Given the description of an element on the screen output the (x, y) to click on. 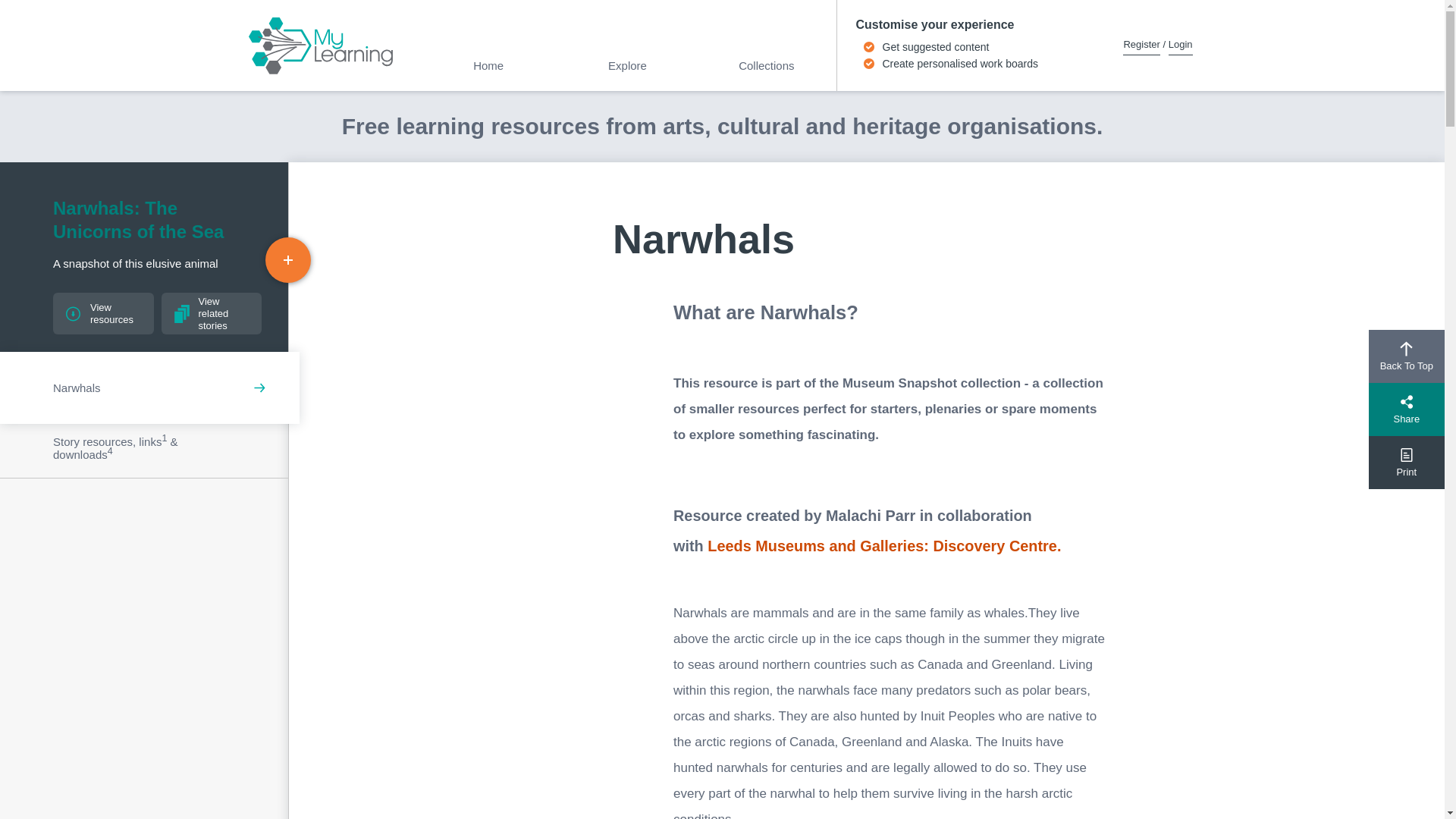
Register (1140, 43)
Home (488, 67)
Login (1180, 43)
Leeds Museums and Galleries: Discovery Centre. (884, 545)
View related stories (211, 313)
Explore (627, 67)
Collections (766, 67)
Explore (627, 67)
Home (488, 67)
Read Narwhals Chapter (144, 387)
